Given the description of an element on the screen output the (x, y) to click on. 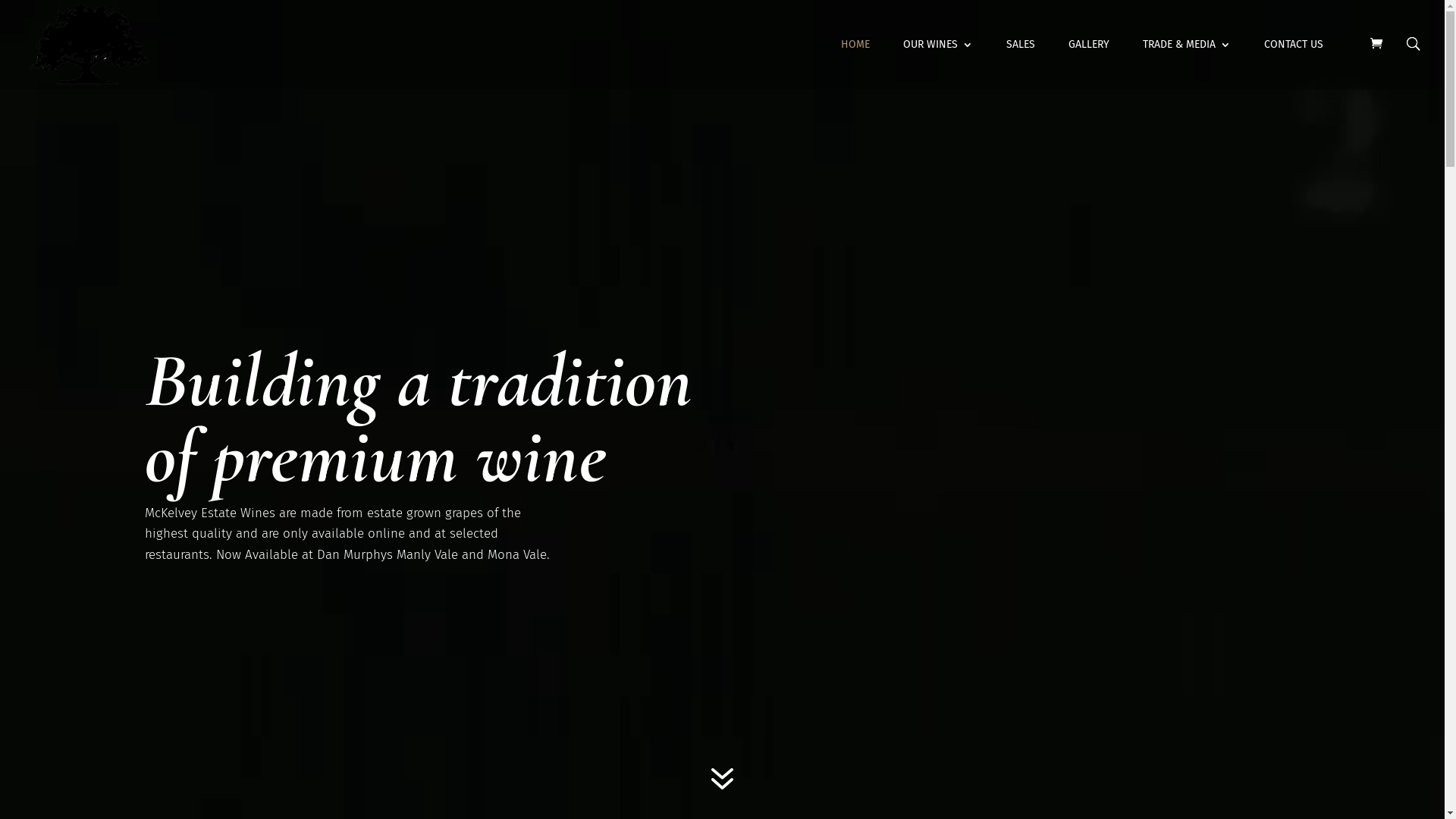
HOME Element type: text (854, 64)
TRADE & MEDIA Element type: text (1186, 64)
CONTACT US Element type: text (1293, 64)
OUR WINES Element type: text (937, 64)
GALLERY Element type: text (1088, 64)
SALES Element type: text (1020, 64)
7 Element type: text (721, 779)
